Given the description of an element on the screen output the (x, y) to click on. 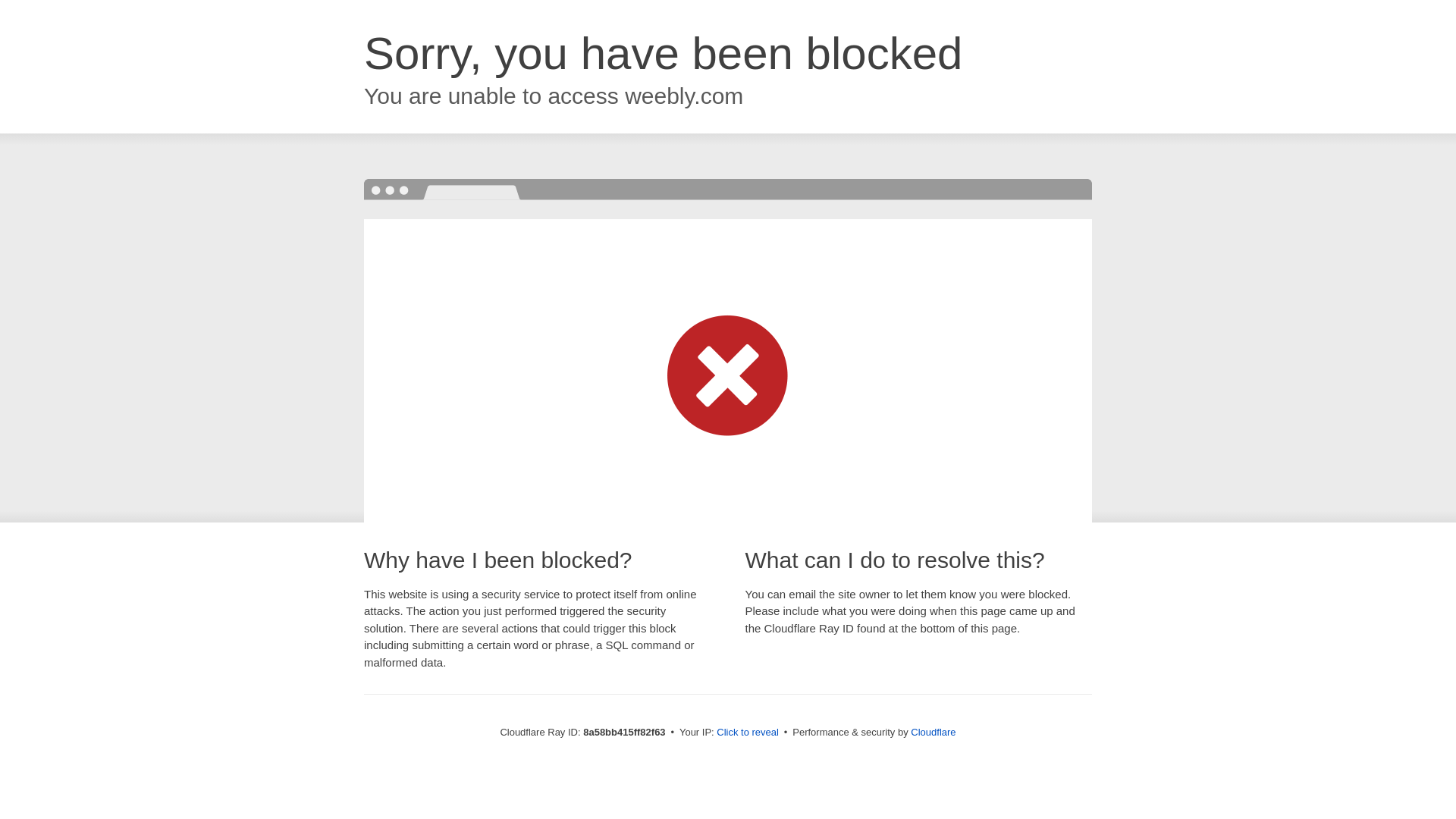
Cloudflare (933, 731)
Click to reveal (747, 732)
